Given the description of an element on the screen output the (x, y) to click on. 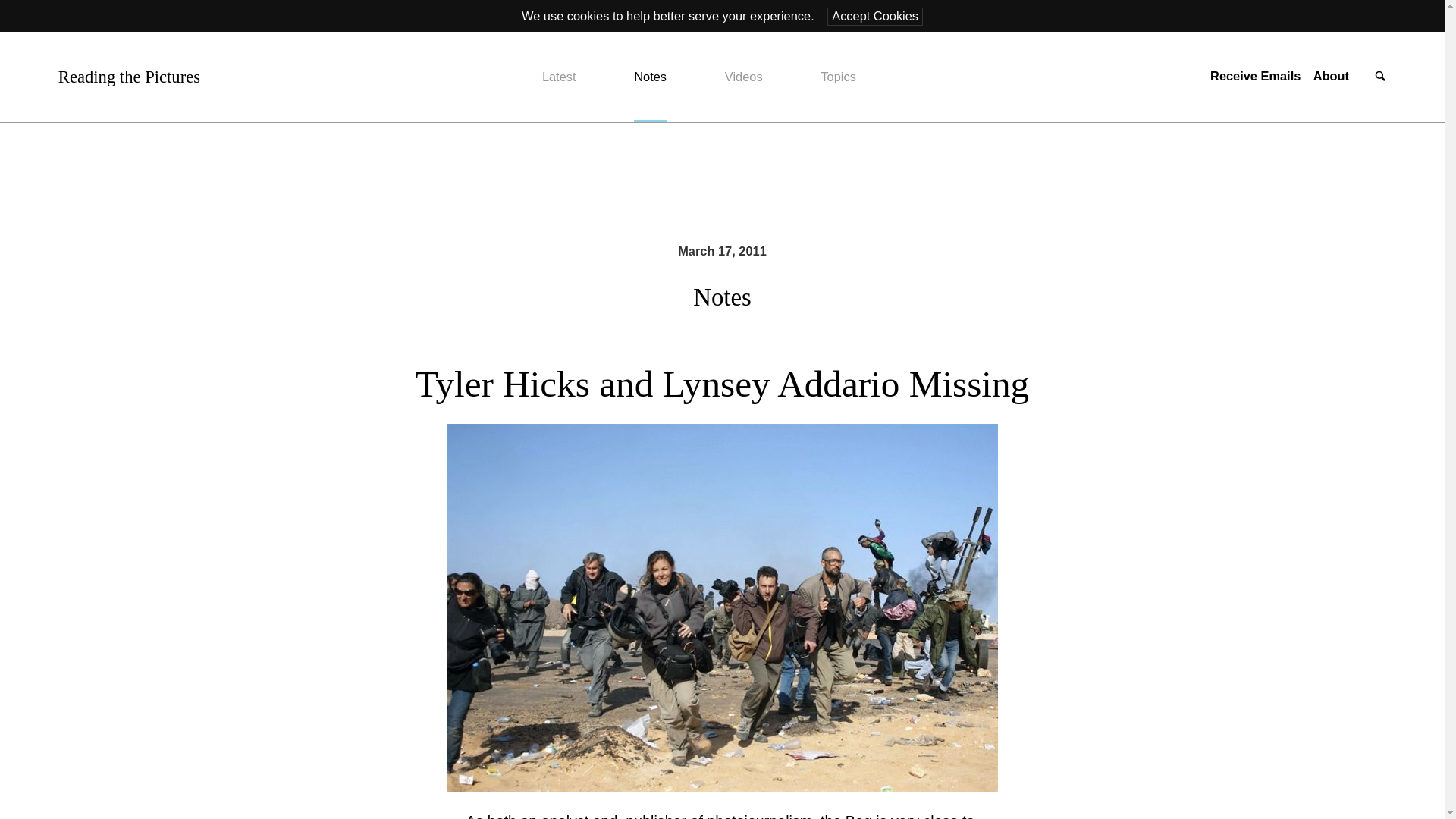
About (1331, 75)
Receive Emails (1254, 75)
Reading the Pictures (129, 76)
search (1380, 78)
Accept Cookies (875, 16)
About (1331, 75)
Reading the Pictures (129, 76)
Newsletter Signup (1254, 75)
